Given the description of an element on the screen output the (x, y) to click on. 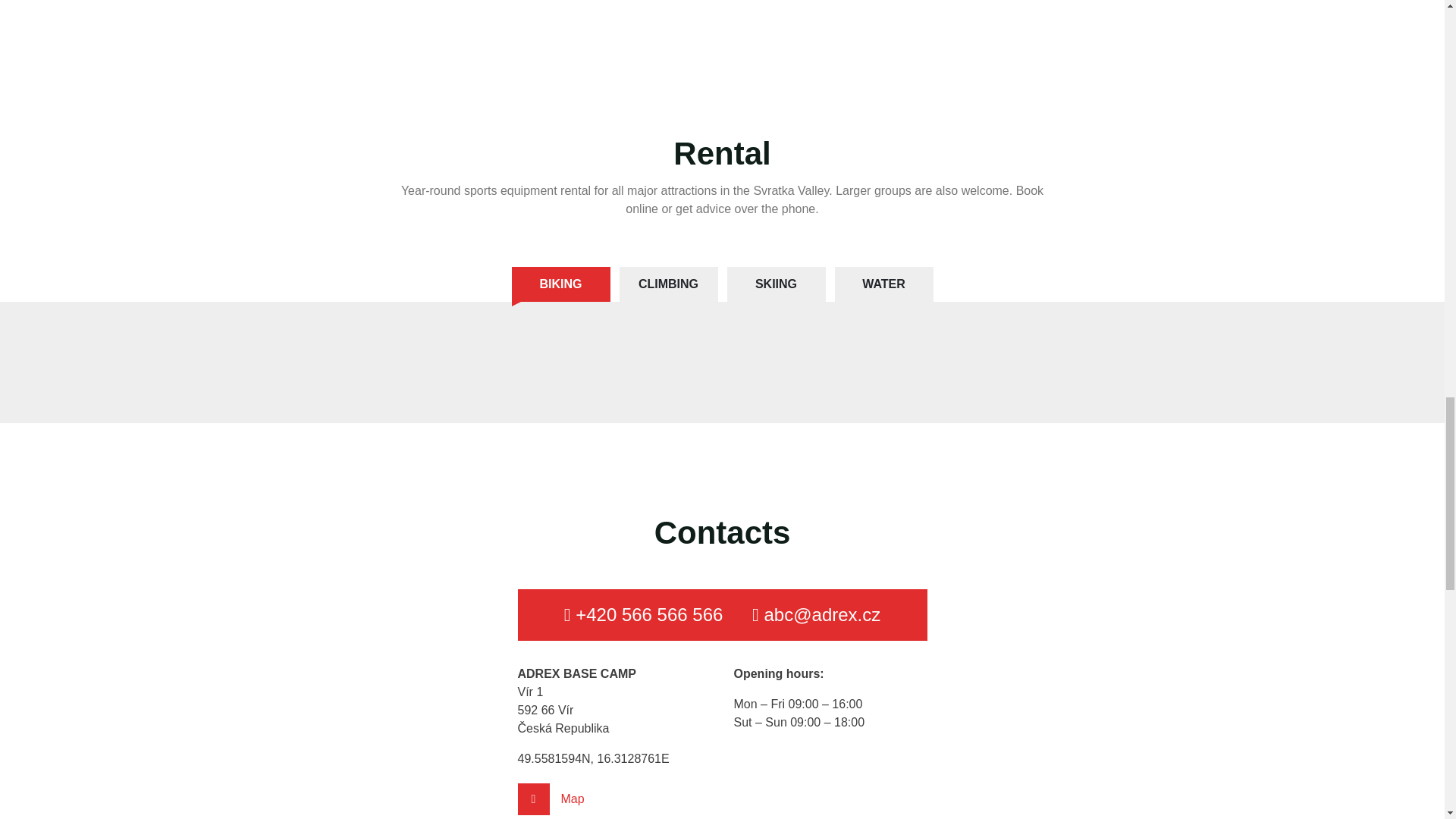
WATER (883, 284)
BIKING (560, 284)
Map (613, 798)
CLIMBING (667, 284)
SKIING (775, 284)
